Given the description of an element on the screen output the (x, y) to click on. 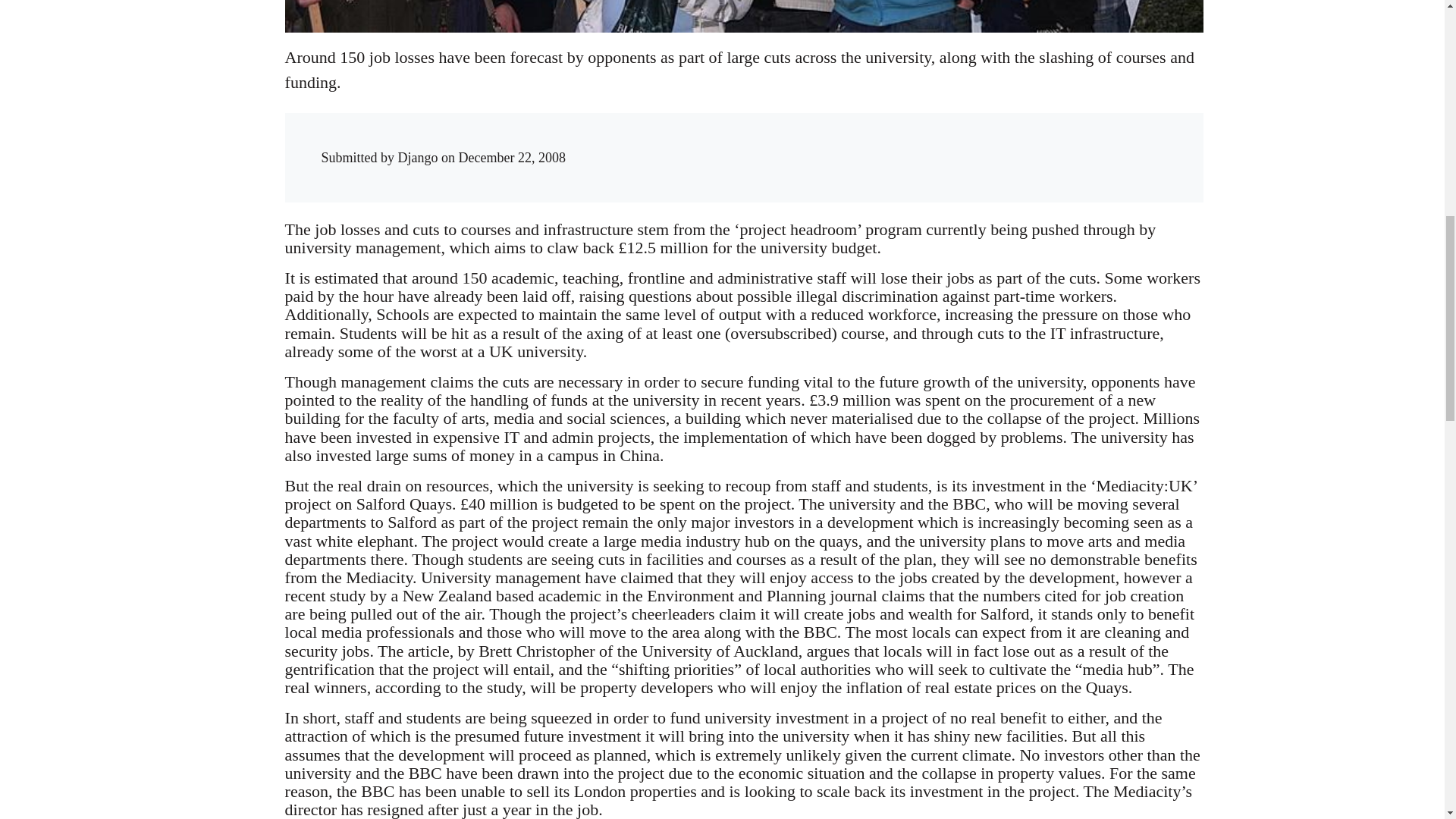
Share to Twitter (945, 143)
Share to Facebook (914, 143)
Share to Reddit (975, 143)
